Given the description of an element on the screen output the (x, y) to click on. 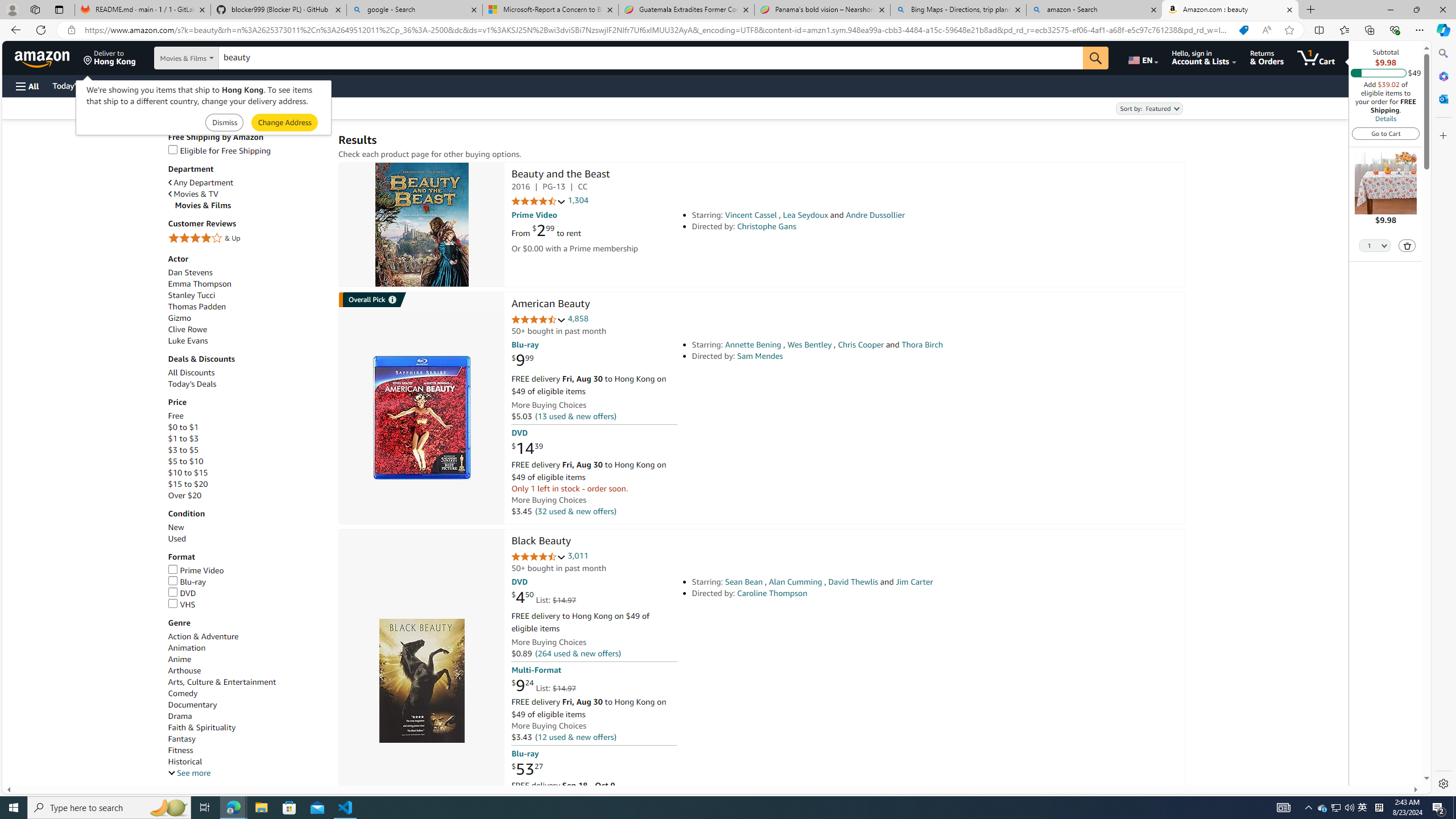
Lea Seydoux (805, 214)
Movies & TV (247, 194)
Gizmo (247, 317)
Comedy (182, 692)
Documentary (191, 704)
$53.27 (527, 768)
$5 to $10 (185, 461)
Stanley Tucci (191, 294)
Free (247, 415)
Skip to main content (48, 56)
Black Beauty (421, 681)
Comedy (247, 693)
